Given the description of an element on the screen output the (x, y) to click on. 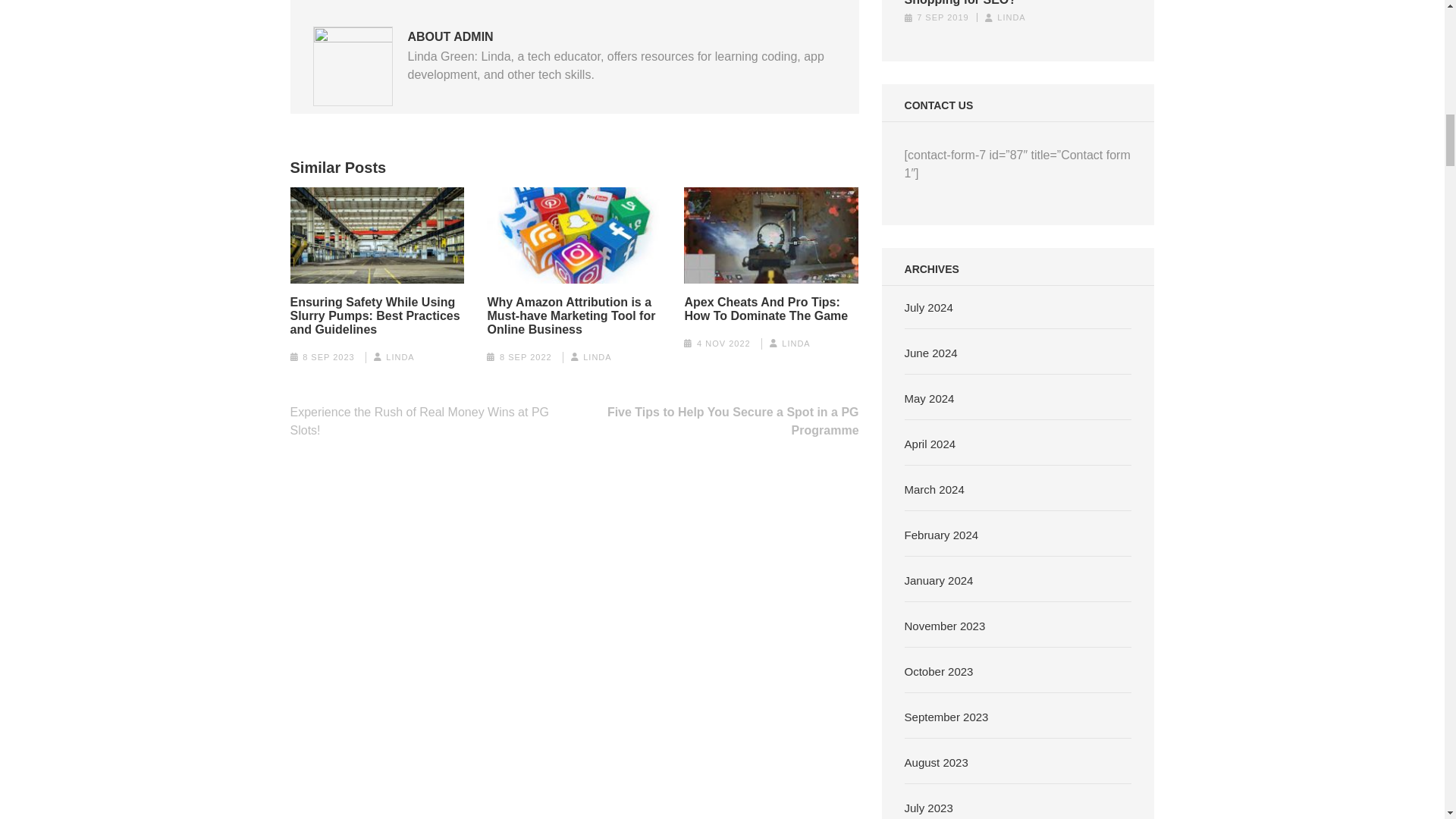
4 NOV 2022 (724, 343)
LINDA (597, 356)
Apex Cheats And Pro Tips: How To Dominate The Game (771, 308)
Five Tips to Help You Secure a Spot in a PG Programme (733, 420)
8 SEP 2022 (525, 356)
LINDA (399, 356)
LINDA (795, 343)
8 SEP 2023 (328, 356)
Experience the Rush of Real Money Wins at PG Slots! (418, 420)
